Given the description of an element on the screen output the (x, y) to click on. 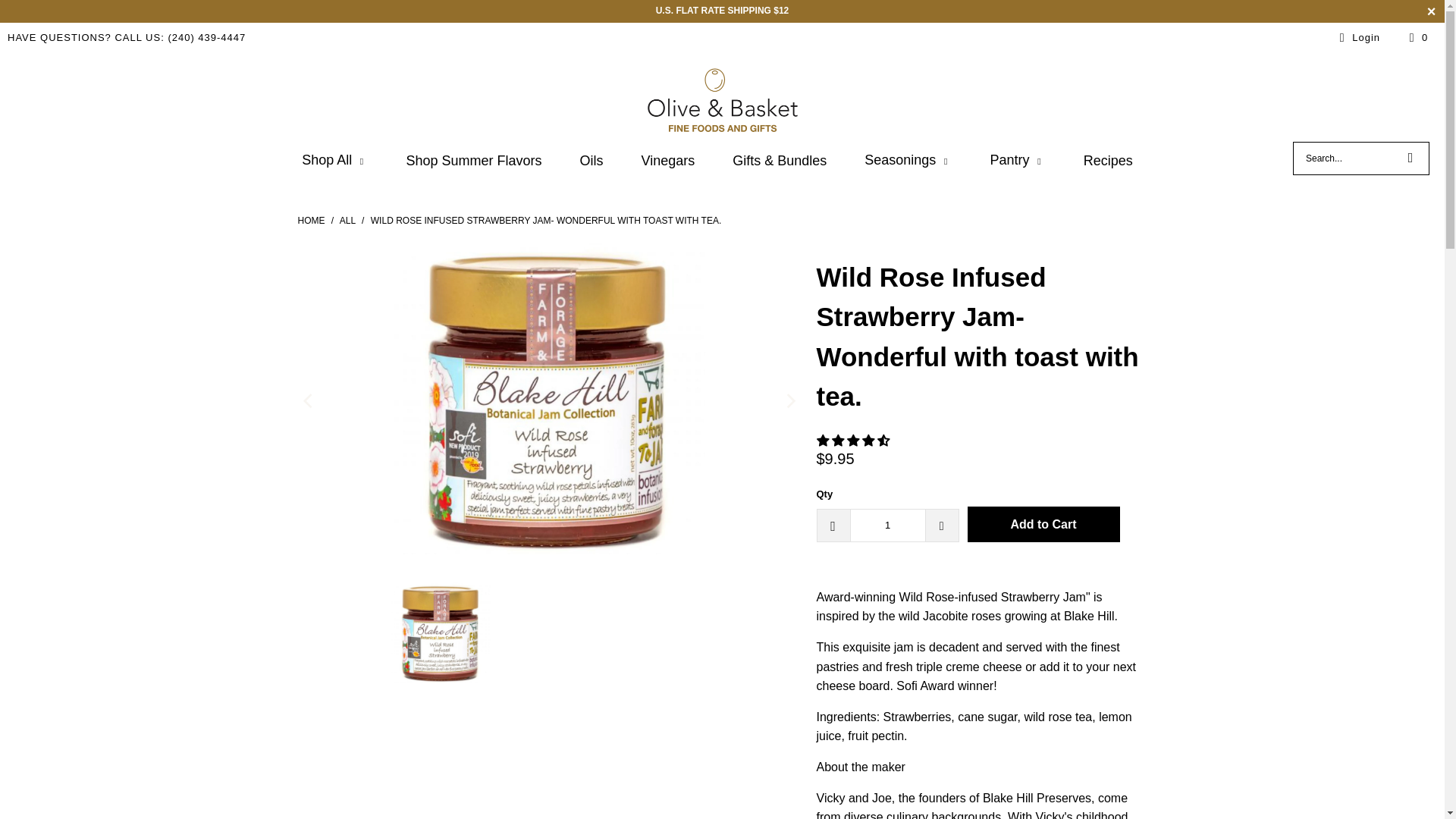
All (348, 220)
My Account  (1357, 37)
1 (886, 525)
